Given the description of an element on the screen output the (x, y) to click on. 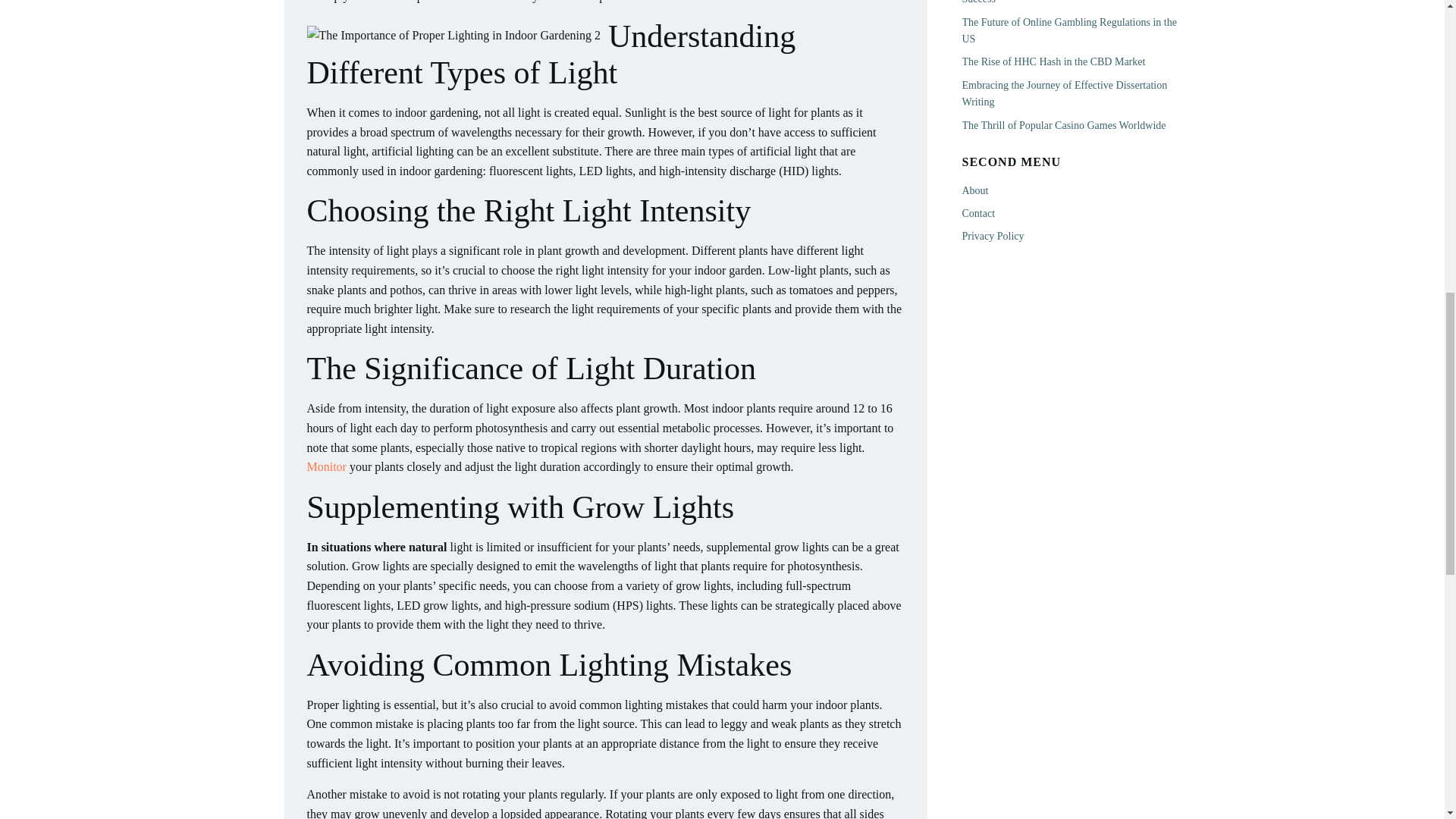
Contact (977, 213)
Mastering Bankroll Management for Sports Betting Success (1070, 2)
Privacy Policy (991, 235)
The Future of Online Gambling Regulations in the US (1068, 30)
The Thrill of Popular Casino Games Worldwide (1063, 125)
About (974, 190)
The Rise of HHC Hash in the CBD Market (1052, 61)
Monitor (325, 466)
Embracing the Journey of Effective Dissertation Writing (1063, 93)
